Given the description of an element on the screen output the (x, y) to click on. 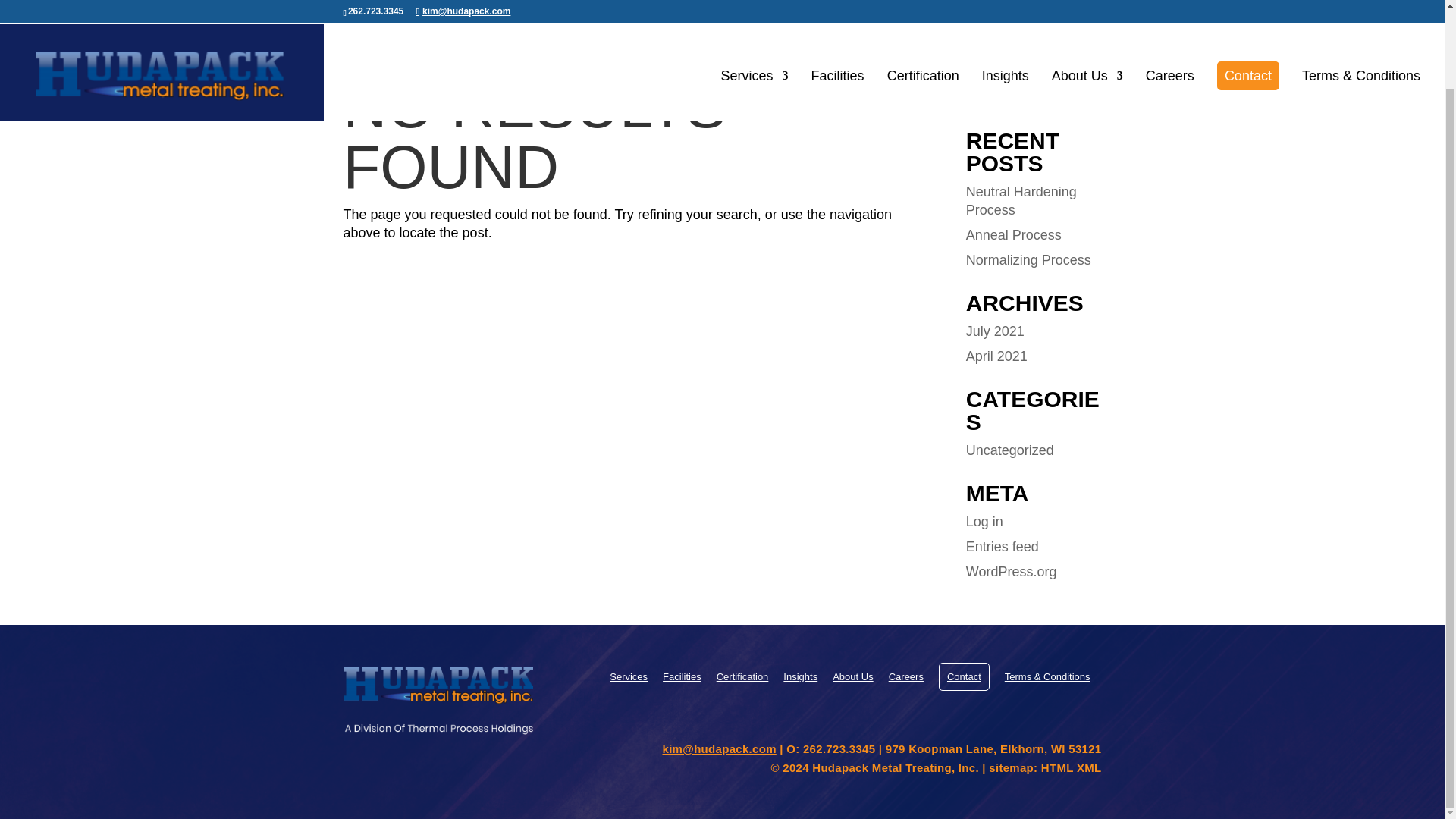
Search (1076, 91)
April 2021 (996, 355)
Normalizing Process (1028, 259)
Neutral Hardening Process (1021, 200)
Certification (922, 16)
Contact (1248, 1)
Services (754, 16)
Facilities (837, 16)
Search (1076, 91)
Careers (1169, 16)
Insights (1005, 16)
July 2021 (995, 331)
About Us (1086, 16)
Anneal Process (1013, 234)
